Given the description of an element on the screen output the (x, y) to click on. 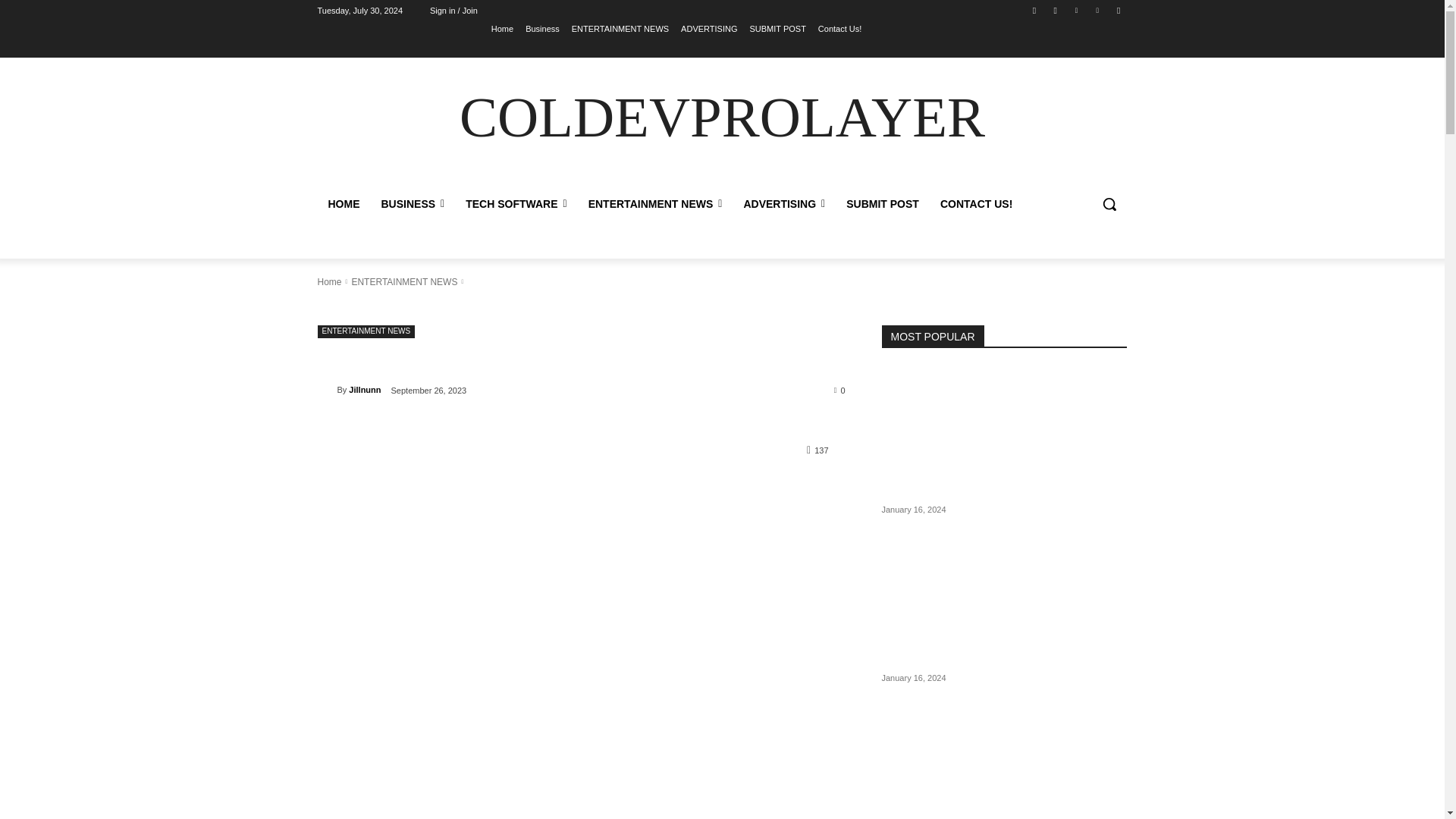
Twitter (1075, 9)
Home (502, 28)
Vimeo (1097, 9)
Youtube (1117, 9)
Business (542, 28)
Facebook (1034, 9)
Contact Us! (839, 28)
SUBMIT POST (777, 28)
Instagram (1055, 9)
BUSINESS (411, 203)
HOME (343, 203)
COLDEVPROLAYER (721, 117)
ENTERTAINMENT NEWS (620, 28)
ADVERTISING (708, 28)
